Given the description of an element on the screen output the (x, y) to click on. 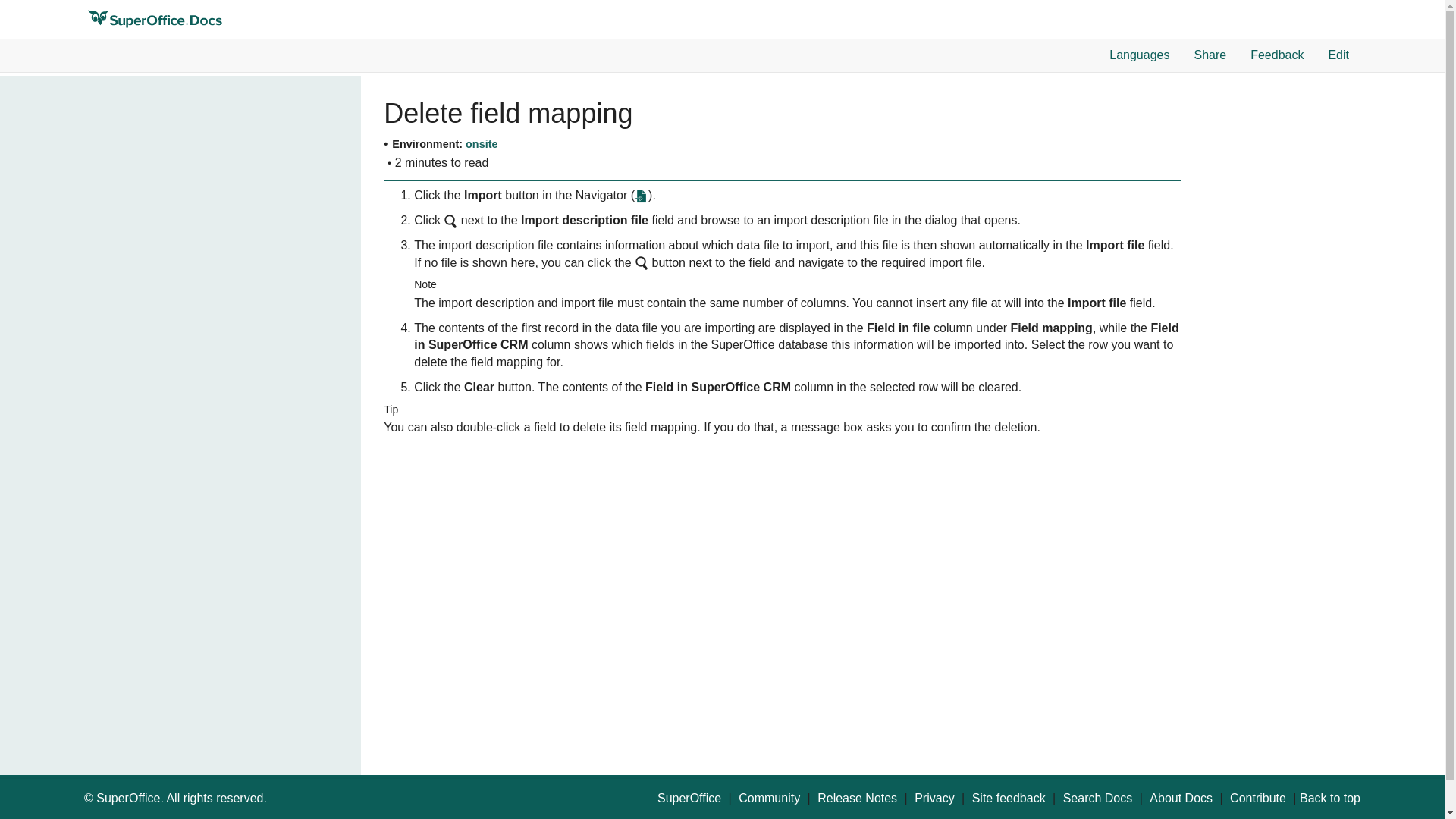
Community (768, 798)
Search Docs (1097, 798)
Site feedback (1008, 798)
Privacy (933, 798)
Languages (1138, 55)
About Docs (1181, 798)
Release Notes (856, 798)
Back to top (1329, 798)
Contribute (1257, 798)
SuperOffice (689, 798)
